Given the description of an element on the screen output the (x, y) to click on. 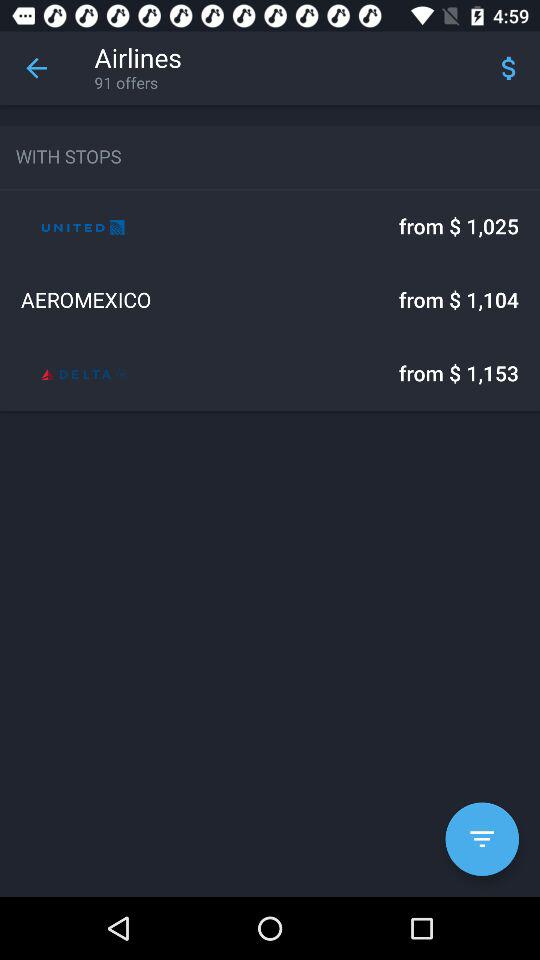
select item to the left of airlines (36, 68)
